Given the description of an element on the screen output the (x, y) to click on. 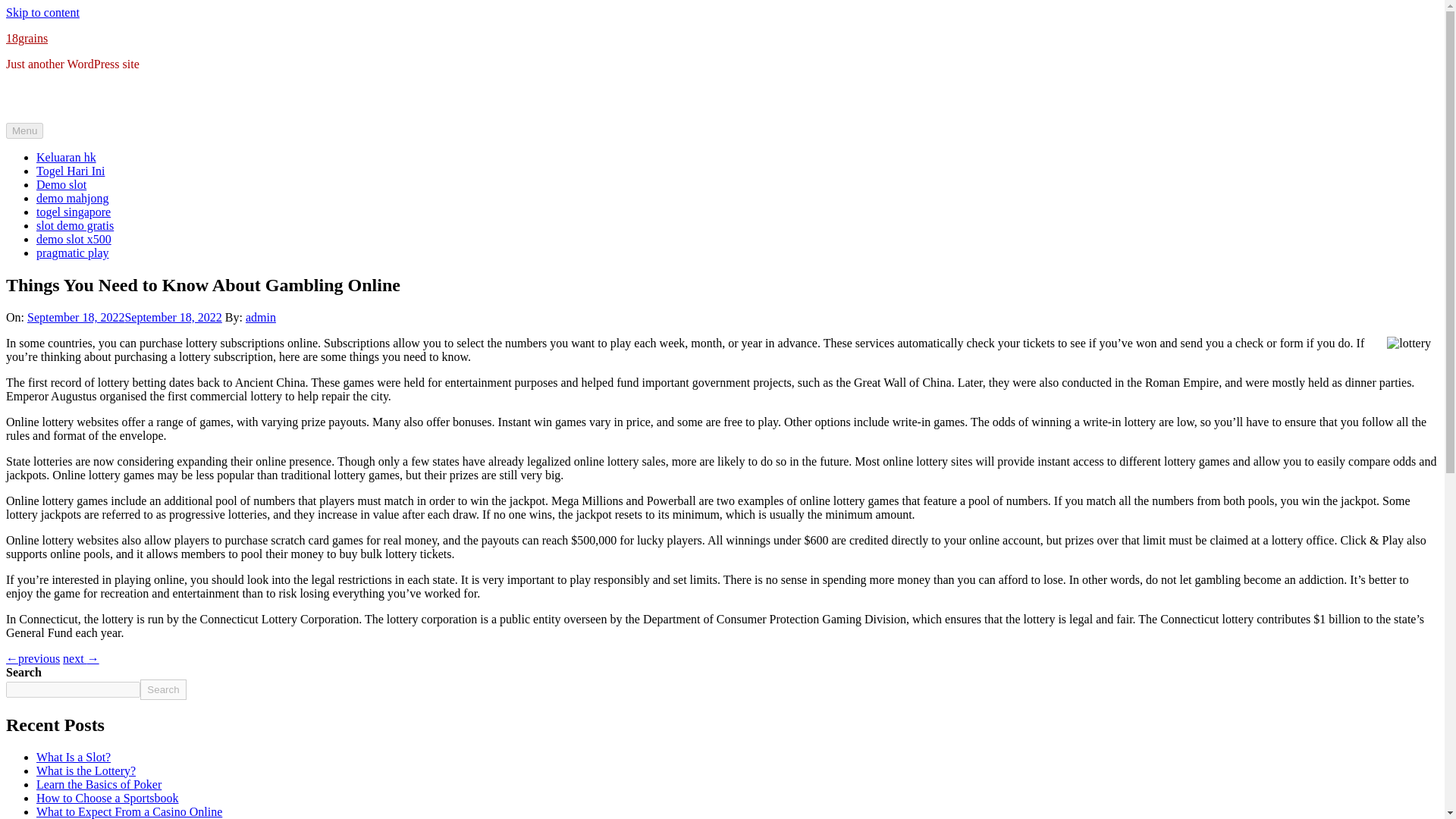
September 18, 2022September 18, 2022 (124, 317)
demo mahjong (72, 197)
Menu (24, 130)
Keluaran hk (66, 156)
What Is a Slot? (73, 757)
Skip to content (42, 11)
What to Expect From a Casino Online (129, 811)
Togel Hari Ini (70, 170)
admin (261, 317)
slot demo gratis (74, 225)
How to Choose a Sportsbook (107, 797)
What is the Lottery? (85, 770)
Learn the Basics of Poker (98, 784)
togel singapore (73, 211)
Search (162, 689)
